Given the description of an element on the screen output the (x, y) to click on. 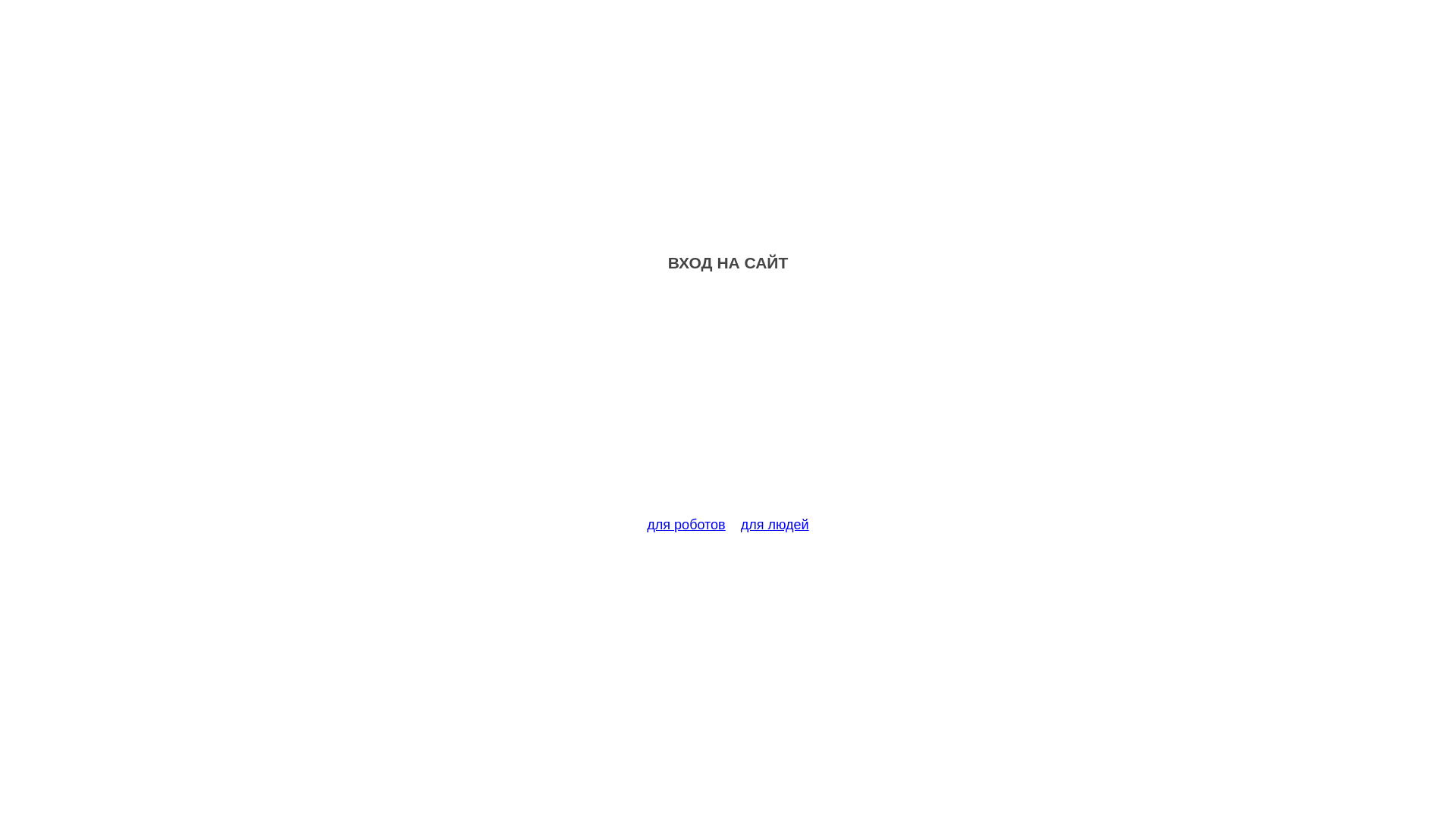
Advertisement Element type: hover (727, 403)
